Given the description of an element on the screen output the (x, y) to click on. 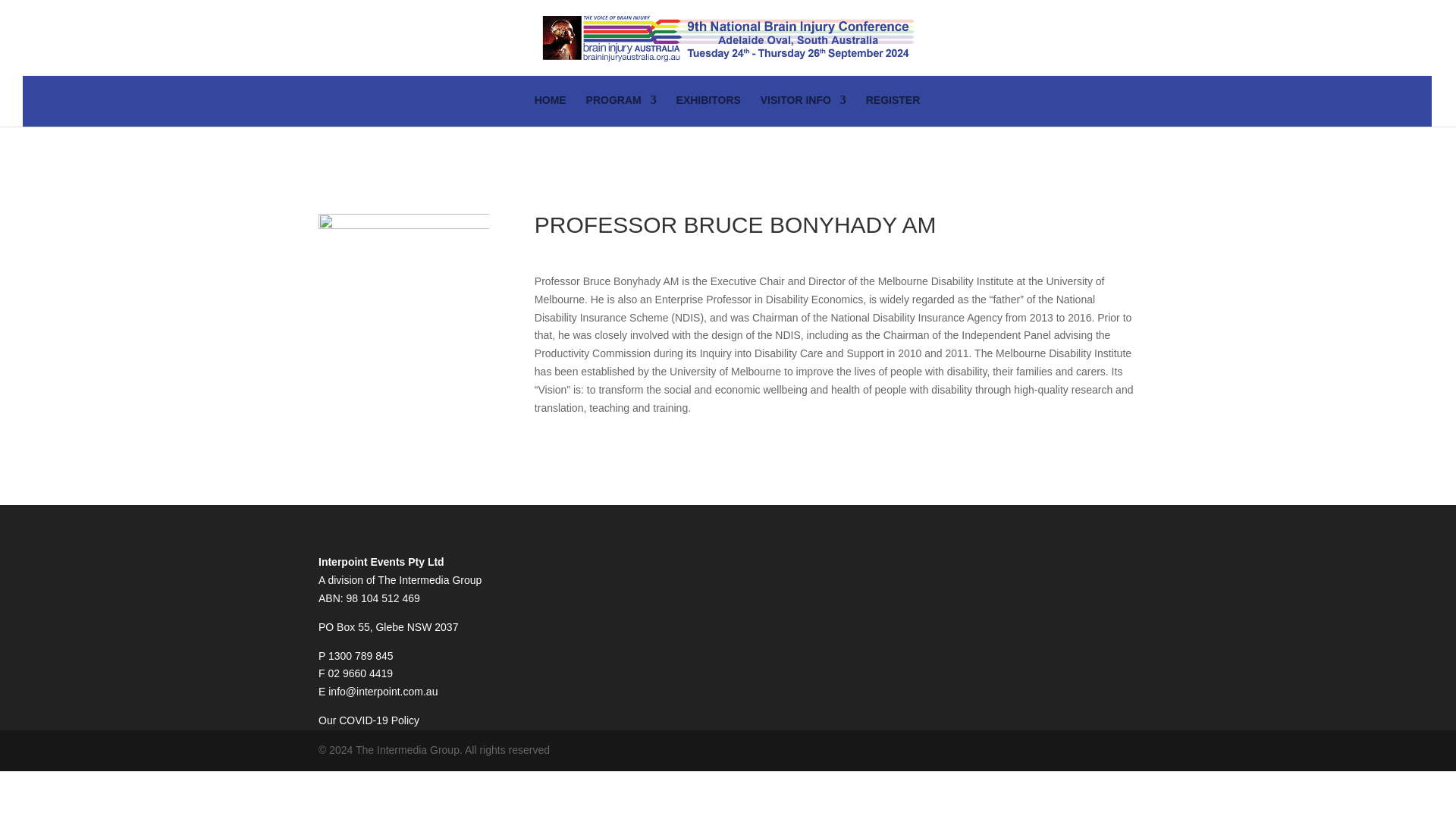
Our COVID-19 Policy (368, 720)
PROGRAM (621, 110)
HOME (550, 110)
EXHIBITORS (709, 110)
VISITOR INFO (802, 110)
REGISTER (893, 110)
